Given the description of an element on the screen output the (x, y) to click on. 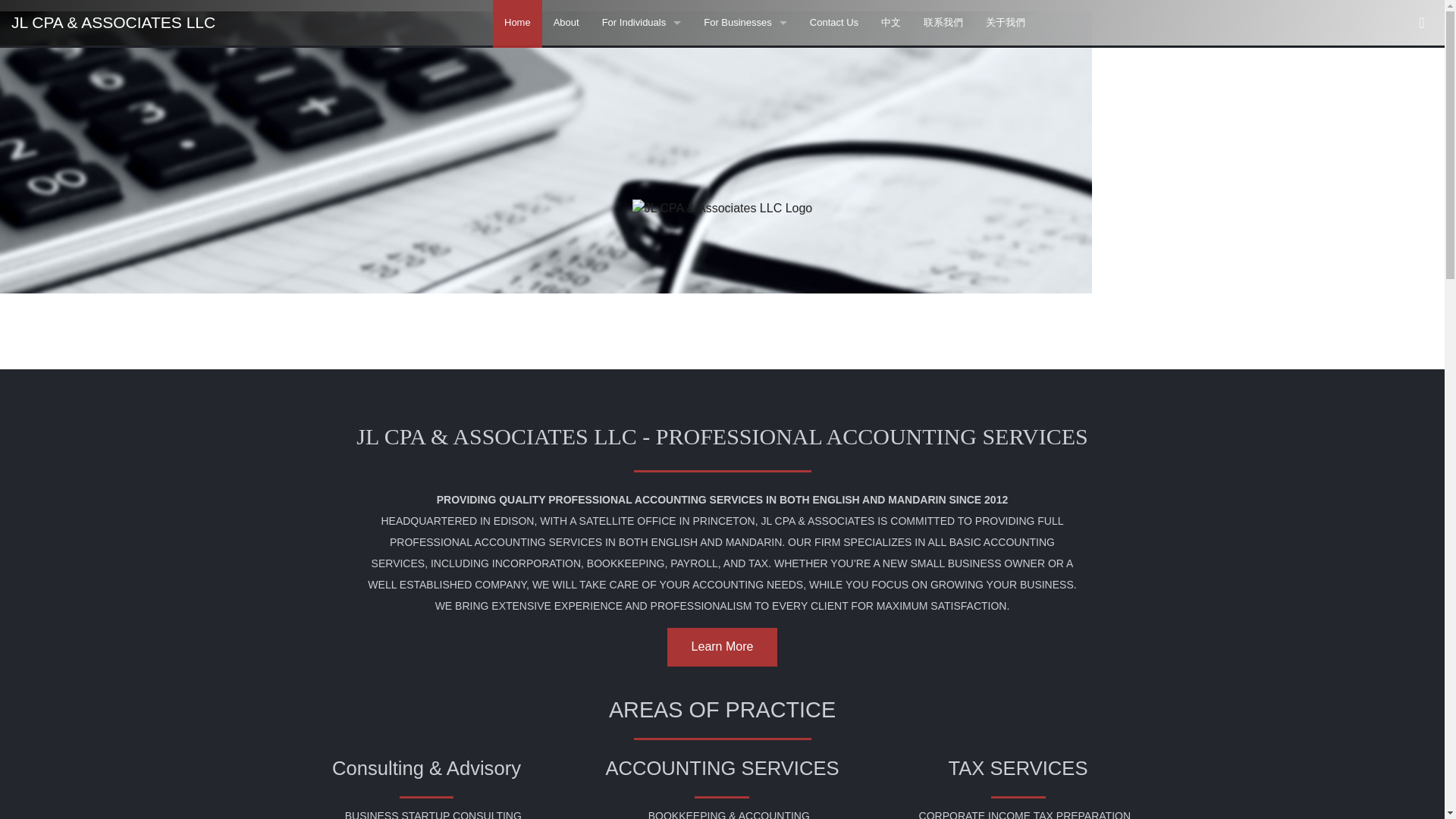
Home (517, 23)
Personal Financial Planning (642, 67)
Assurance Services (745, 204)
For Individuals (642, 22)
Google Maps (1421, 24)
About (566, 22)
Payroll (745, 113)
Learn More (721, 647)
New Business Formation (745, 158)
Tax Preparation (745, 295)
